Given the description of an element on the screen output the (x, y) to click on. 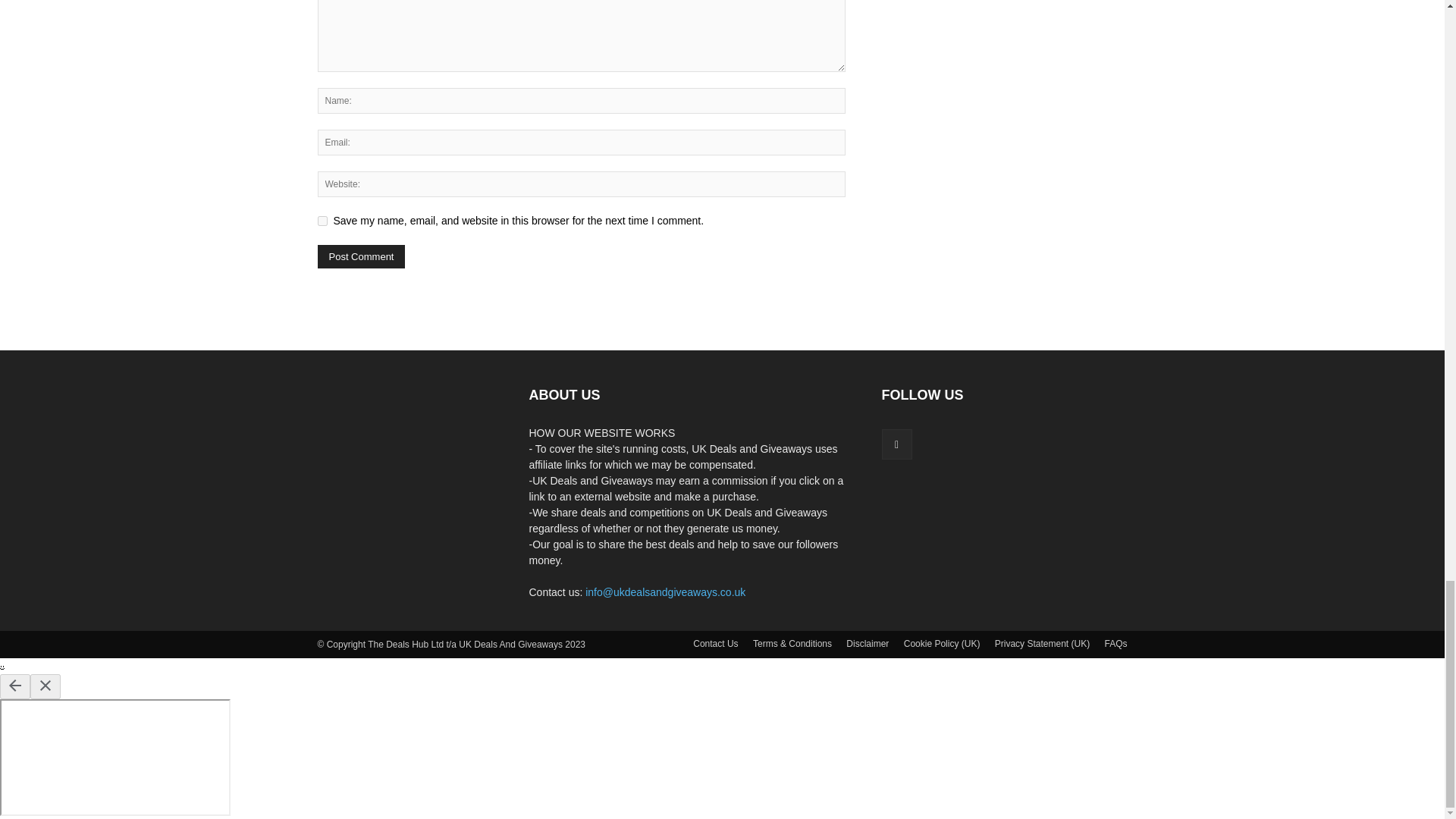
yes (321, 221)
Post Comment (360, 256)
